Given the description of an element on the screen output the (x, y) to click on. 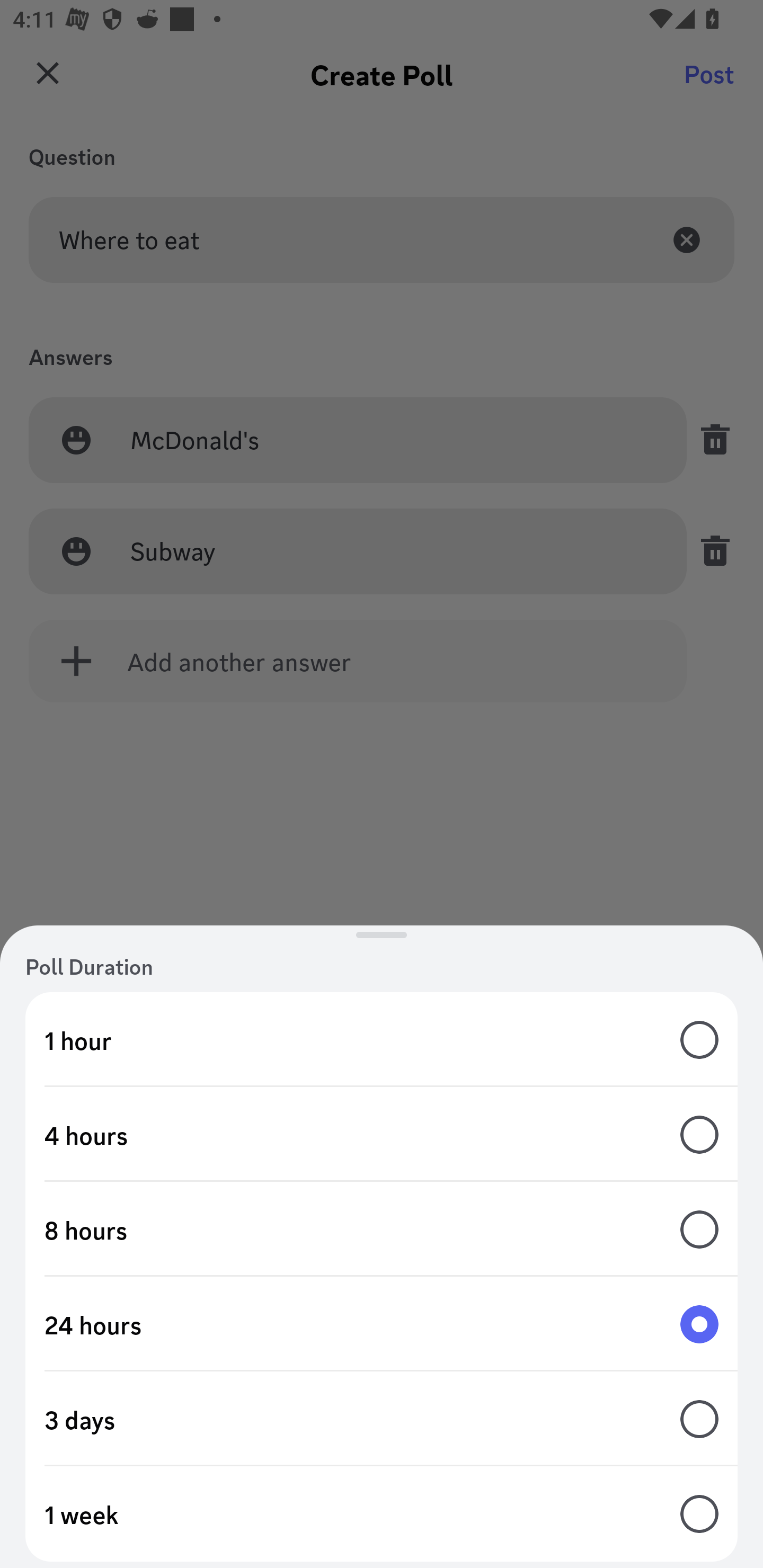
1 hour,  1 hour (381, 1040)
4 hours,  4 hours (381, 1134)
8 hours,  8 hours (381, 1229)
24 hours,  24 hours (381, 1324)
3 days,  3 days (381, 1419)
1 week,  1 week (381, 1513)
